Given the description of an element on the screen output the (x, y) to click on. 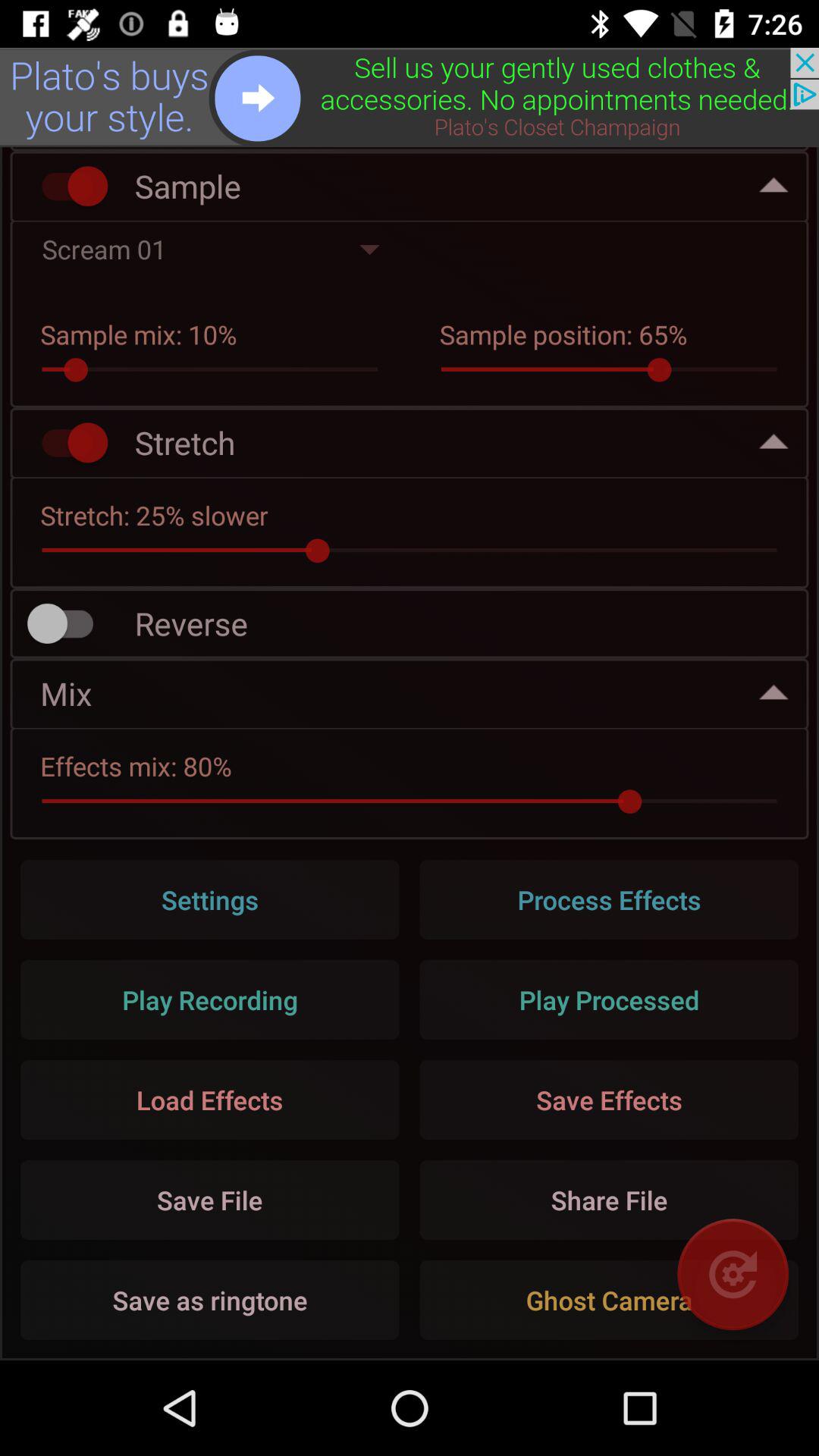
open the advertisement link (409, 97)
